Given the description of an element on the screen output the (x, y) to click on. 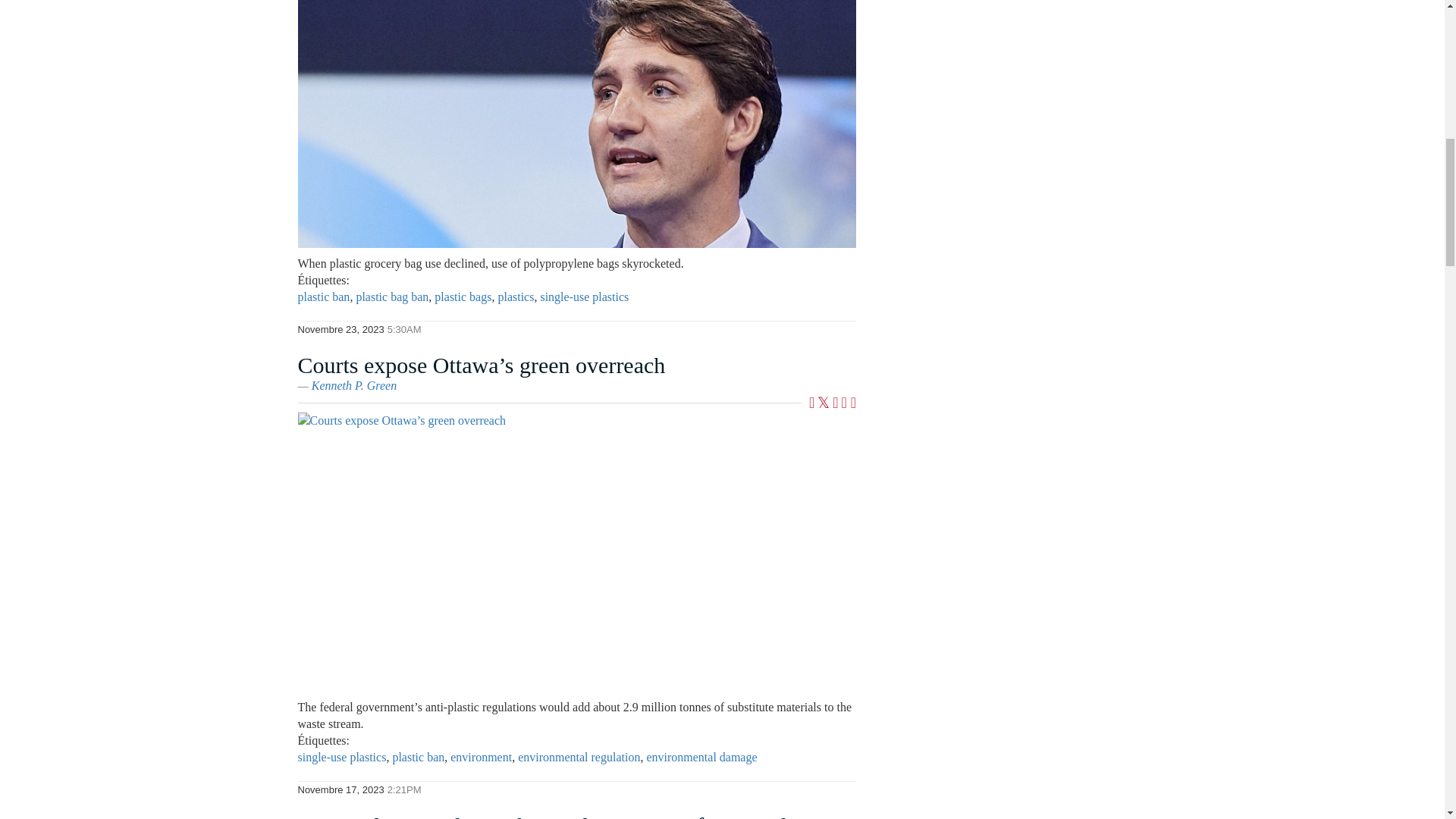
plastic bags (462, 296)
Kenneth P. Green (353, 385)
plastic bag ban (391, 296)
plastics (515, 296)
plastic ban (323, 296)
single-use plastics (584, 296)
